Given the description of an element on the screen output the (x, y) to click on. 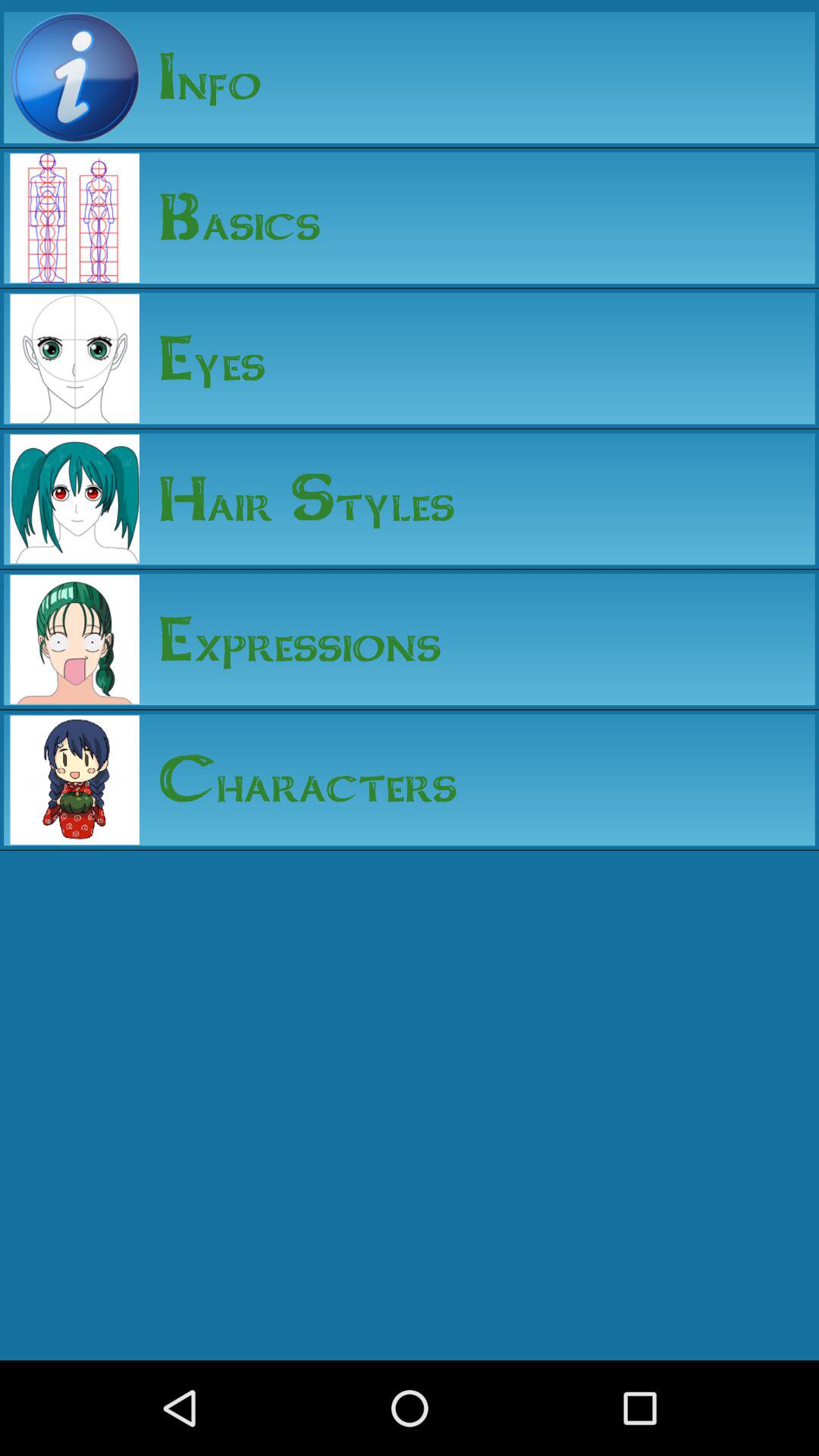
swipe until the info (200, 76)
